Given the description of an element on the screen output the (x, y) to click on. 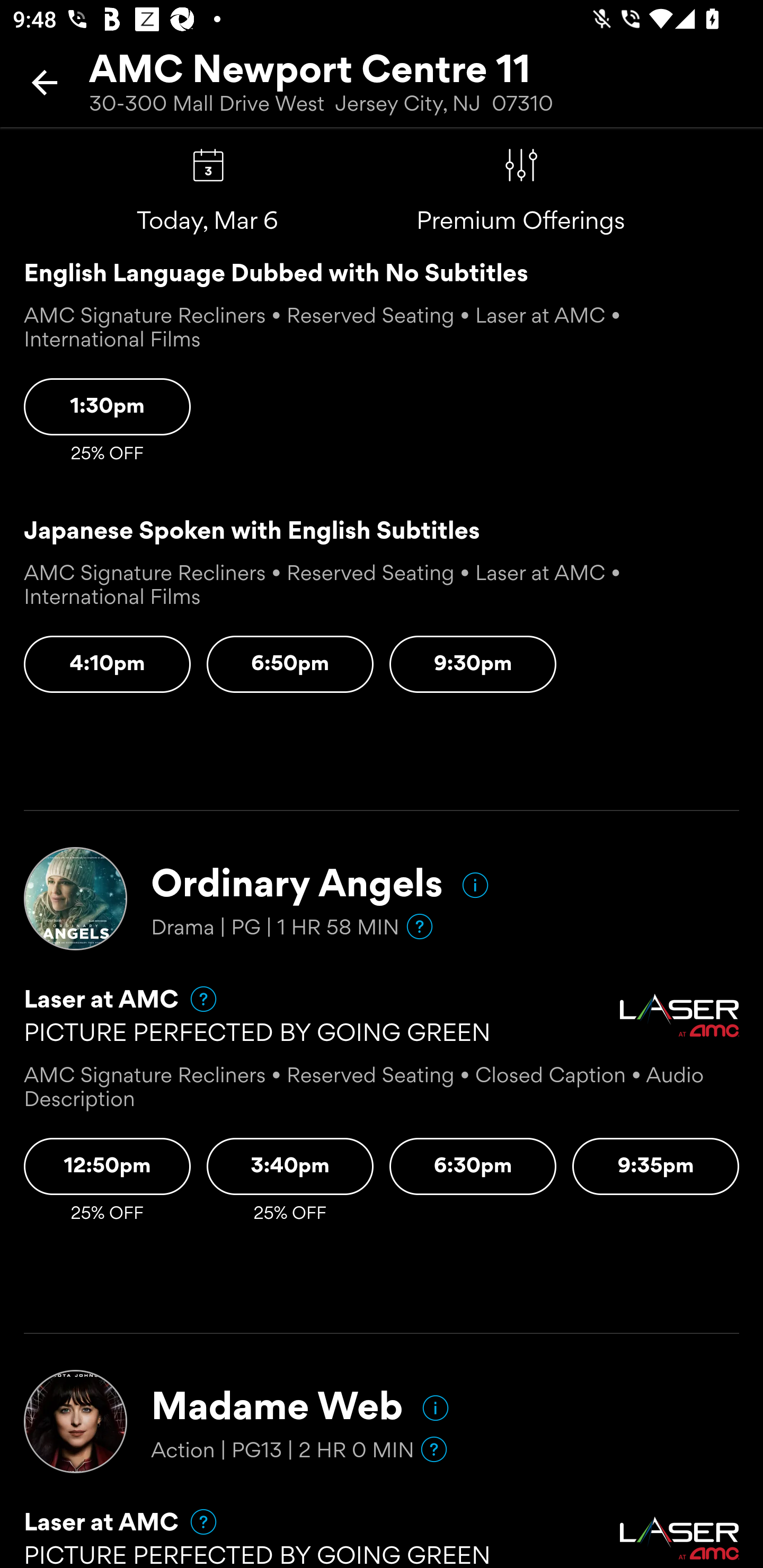
Back (44, 82)
Change selected day (208, 165)
Premium Offerings (520, 165)
Info (475, 884)
Help (419, 926)
Help (195, 998)
Info (435, 1407)
Help (434, 1448)
Help (195, 1521)
